Given the description of an element on the screen output the (x, y) to click on. 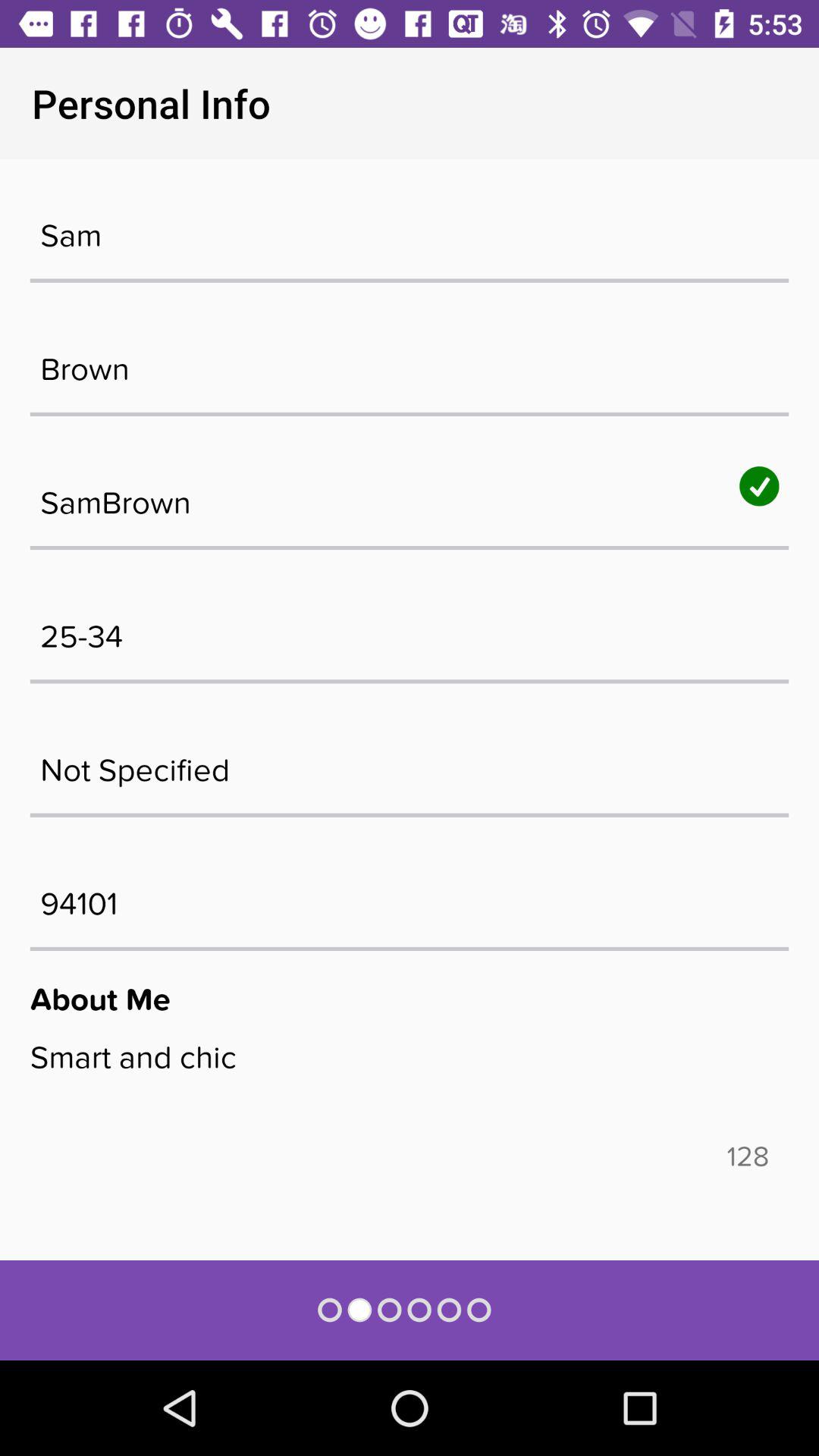
tap 94101 icon (409, 895)
